Given the description of an element on the screen output the (x, y) to click on. 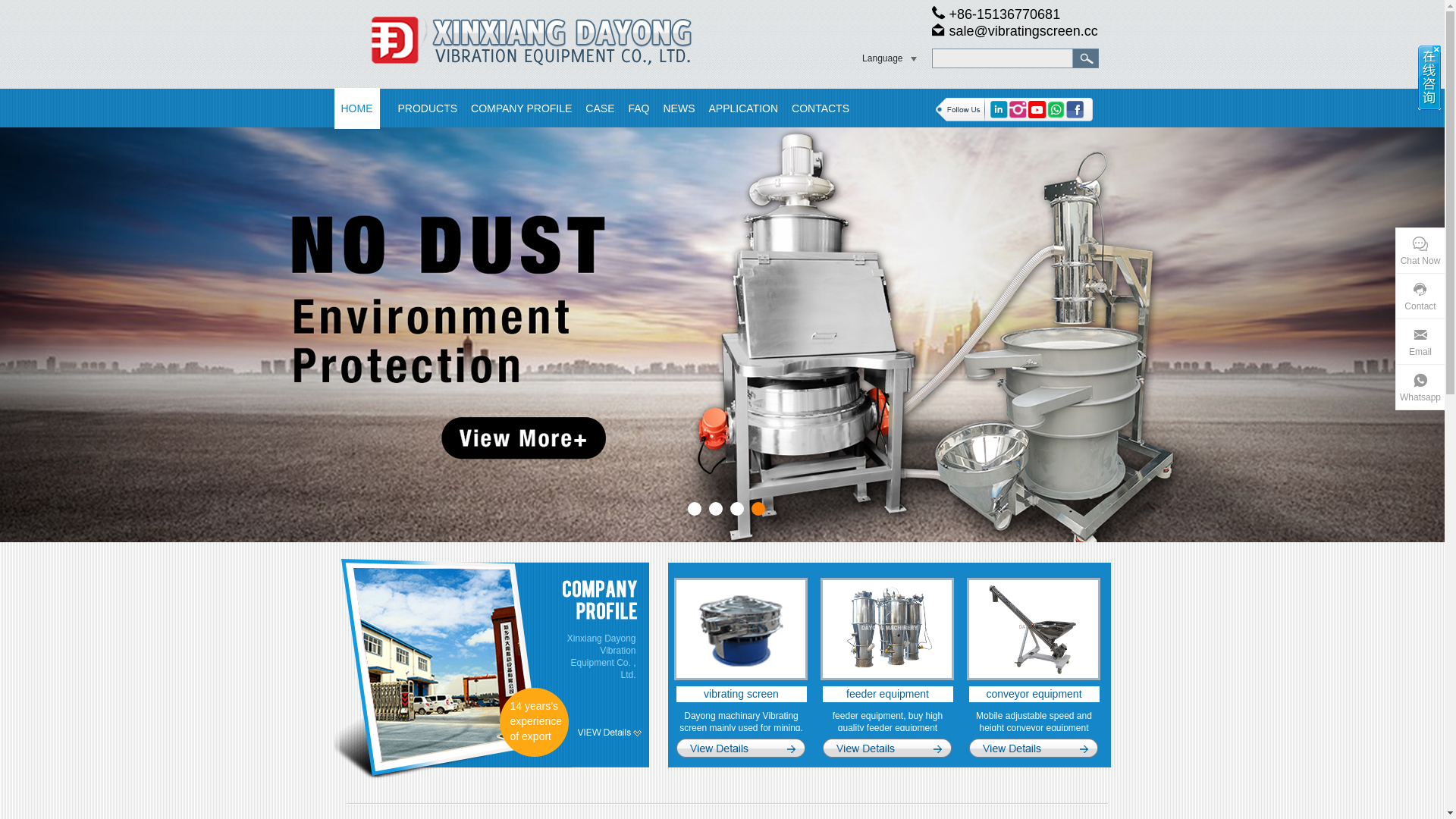
sale@vibratingscreen.cc Element type: text (1014, 30)
vibrating screen,conveyor,bucket elevator Element type: text (519, 40)
FAQ Element type: text (638, 107)
Email Element type: text (1420, 341)
HOME Element type: text (356, 107)
APPLICATION Element type: text (743, 107)
+86-15136770681 Element type: text (995, 13)
COMPANY PROFILE Element type: text (521, 107)
CASE Element type: text (599, 107)
Whatsapp Element type: text (1420, 387)
conveyor equipment Element type: text (1033, 693)
CONTACTS Element type: text (820, 107)
vibrating screen Element type: text (740, 693)
feeder equipment Element type: text (887, 693)
Contact Element type: text (1420, 296)
Chat Now Element type: text (1420, 250)
NEWS Element type: text (679, 107)
PRODUCTS Element type: text (427, 107)
